Given the description of an element on the screen output the (x, y) to click on. 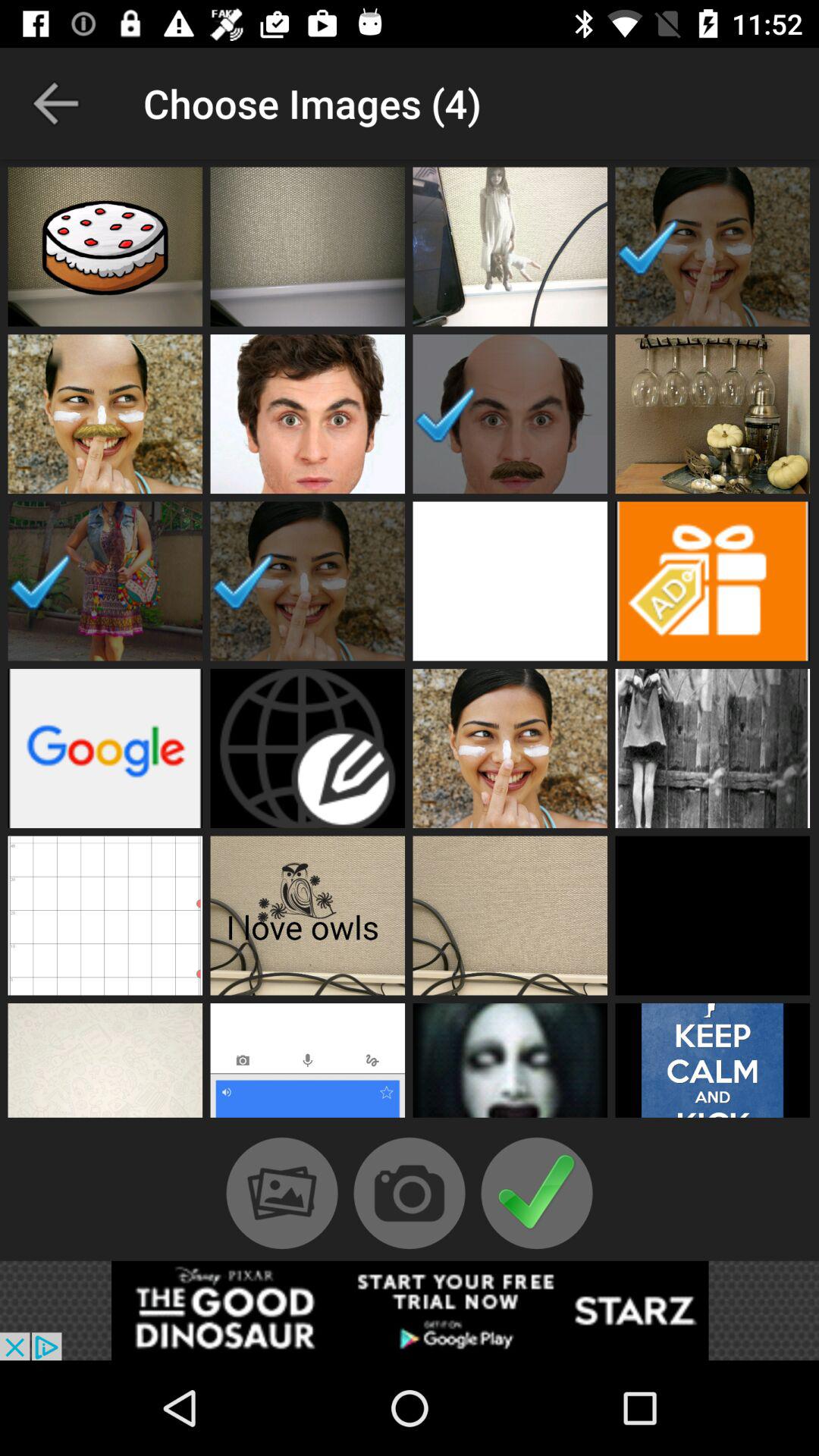
select image (307, 915)
